Given the description of an element on the screen output the (x, y) to click on. 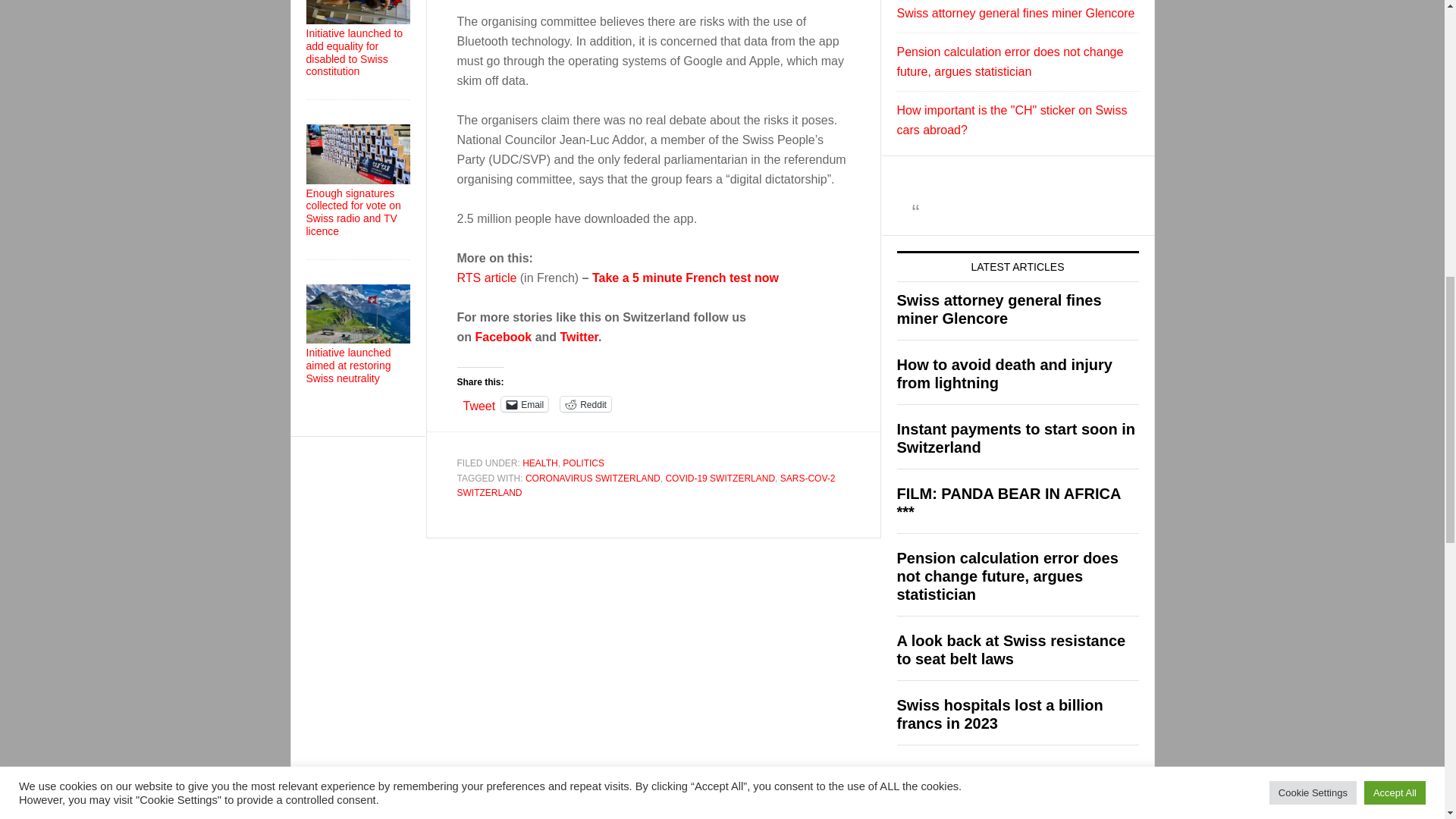
Click to email a link to a friend (524, 403)
RTS article (486, 277)
Facebook (502, 336)
Click to share on Reddit (585, 403)
Twitter (579, 336)
Take a 5 minute French test now (685, 277)
